Given the description of an element on the screen output the (x, y) to click on. 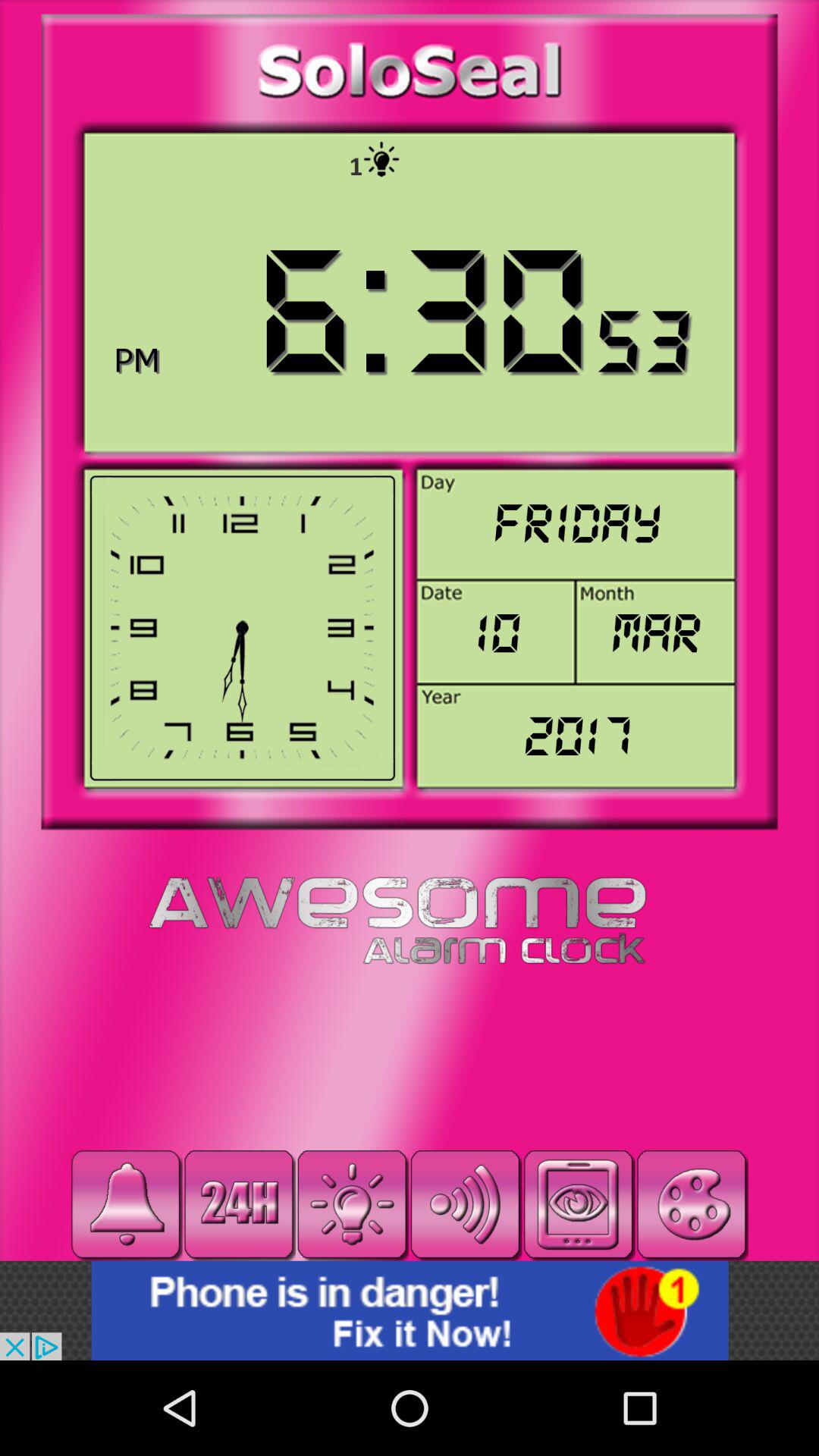
go to alarm (125, 1203)
